Given the description of an element on the screen output the (x, y) to click on. 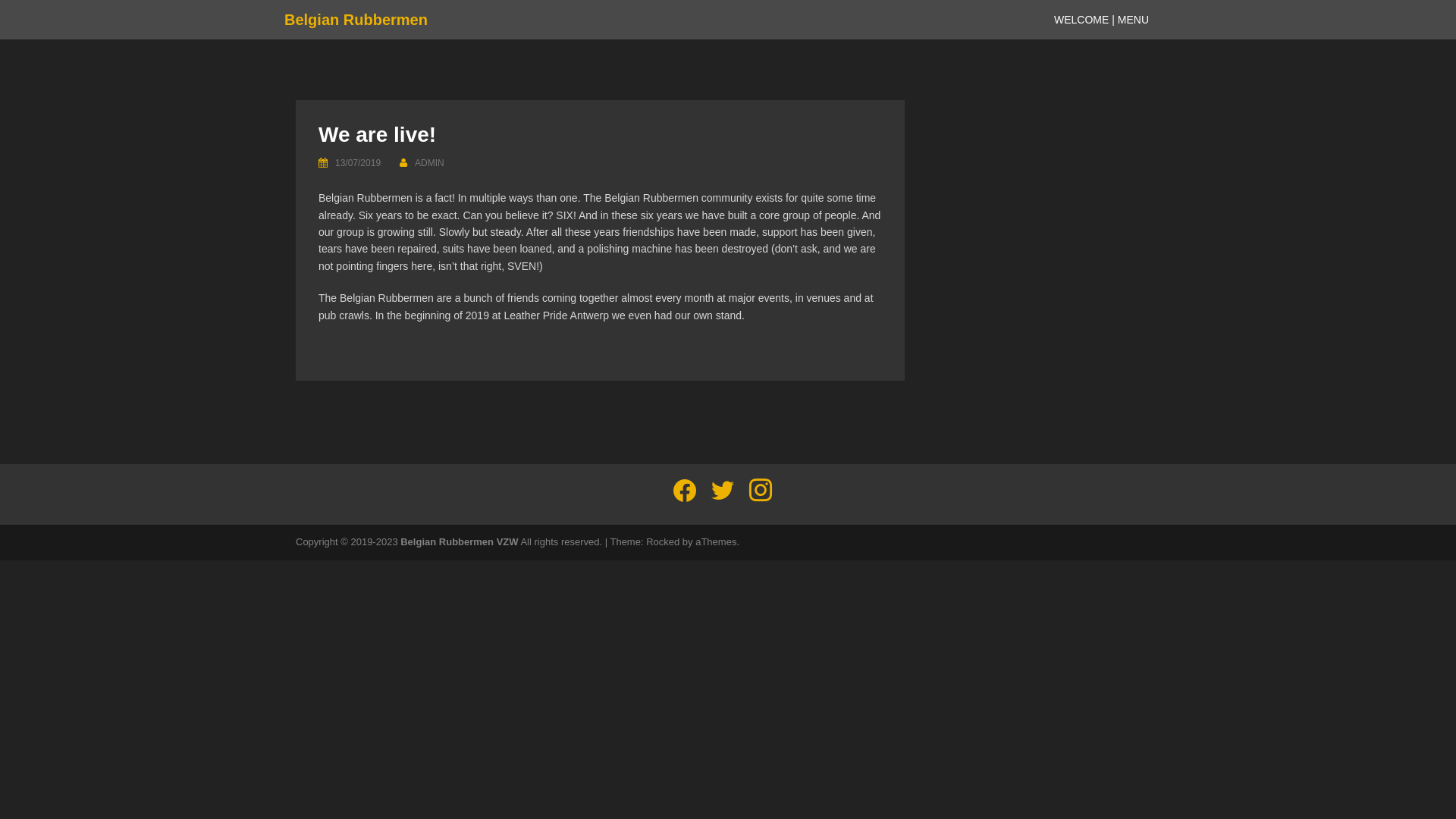
13/07/2019 Element type: text (357, 162)
facebook Element type: text (684, 489)
Rocked Element type: text (662, 541)
twitter Element type: text (722, 489)
Belgian Rubbermen Element type: text (355, 19)
instagram Element type: text (760, 489)
ADMIN Element type: text (429, 162)
WELCOME | MENU Element type: text (1101, 19)
